Given the description of an element on the screen output the (x, y) to click on. 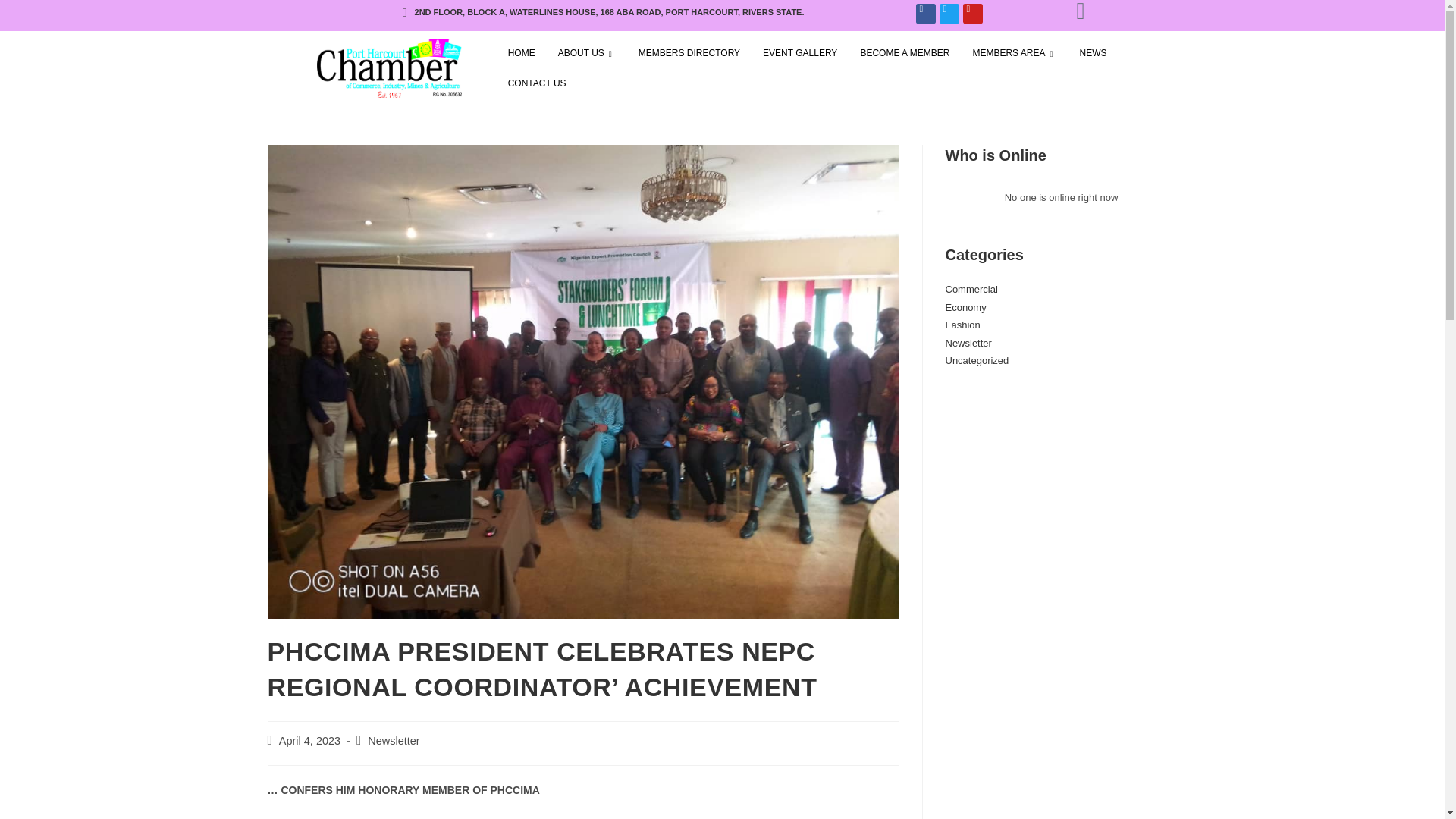
Commercial (970, 288)
HOME (521, 53)
Economy (964, 307)
EVENT GALLERY (799, 53)
NEWS (1092, 53)
BECOME A MEMBER (904, 53)
CONTACT US (537, 83)
Fashion (961, 324)
Newsletter (394, 740)
ABOUT US (587, 53)
